Given the description of an element on the screen output the (x, y) to click on. 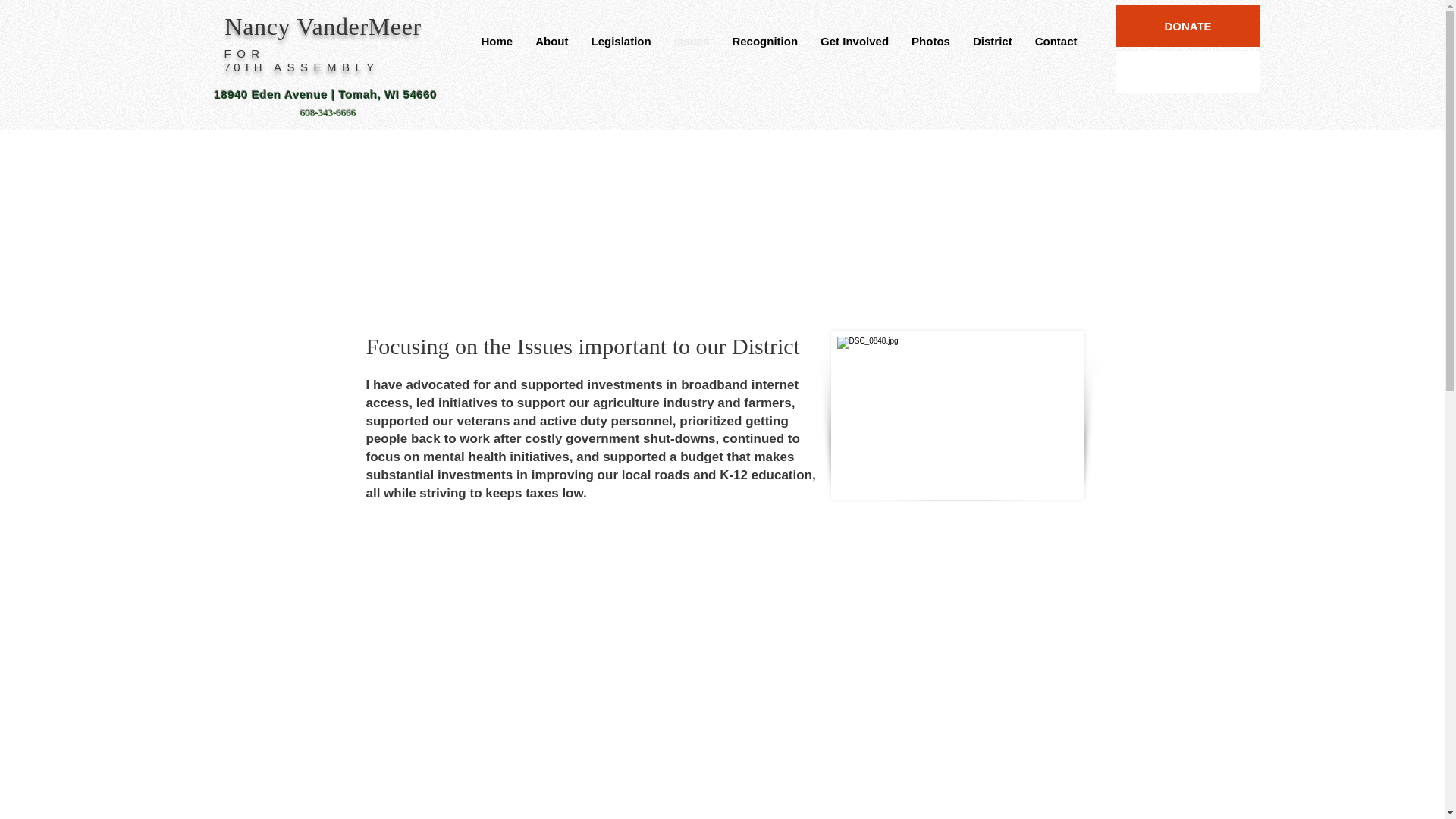
District (991, 45)
About (551, 45)
Photos (929, 45)
Home (497, 45)
Issues (691, 45)
VOLUNTEER (1188, 71)
DONATE (1188, 25)
Contact (1056, 45)
